Given the description of an element on the screen output the (x, y) to click on. 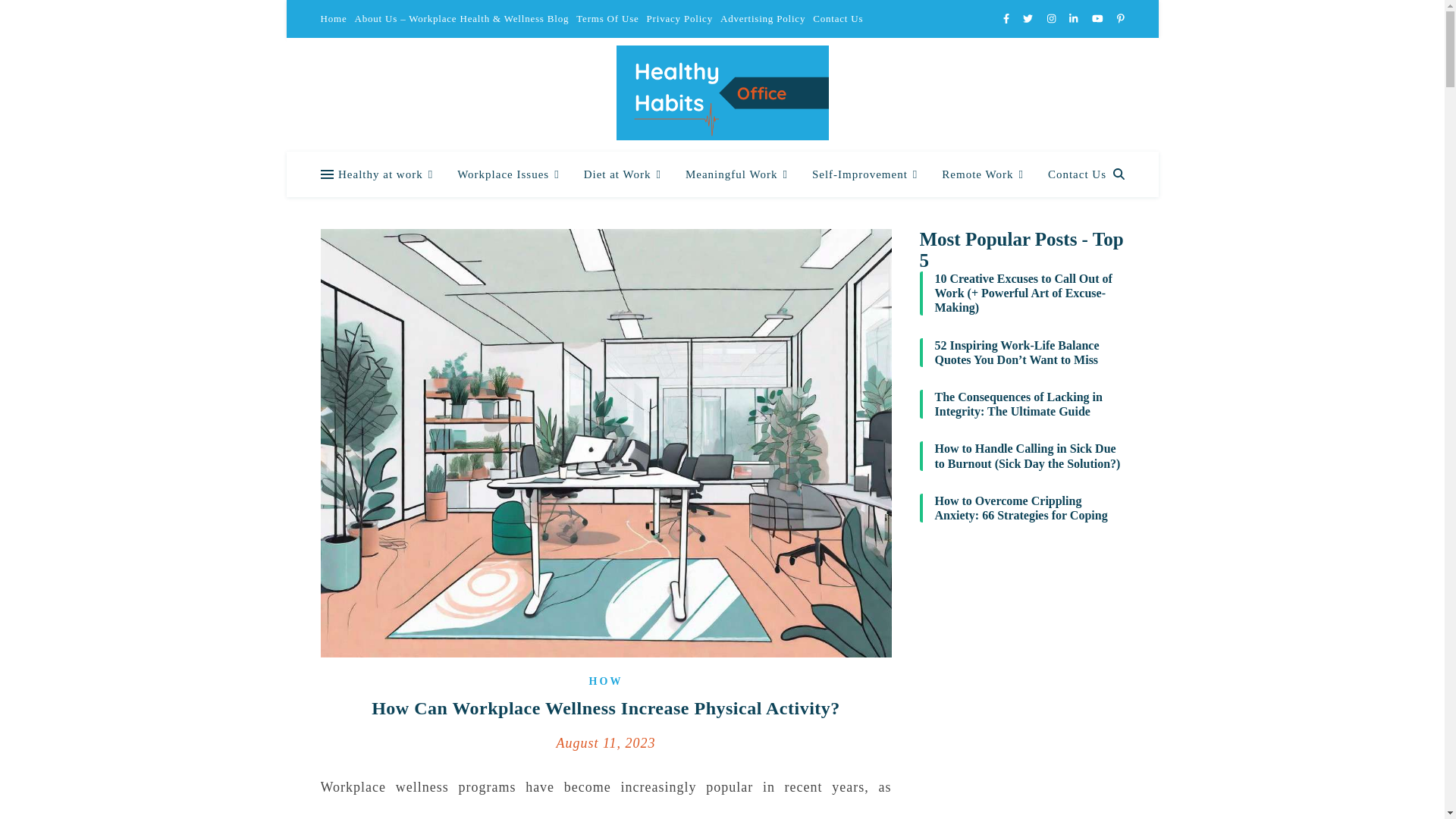
Workplace Issues (508, 174)
Privacy Policy (679, 18)
Terms Of Use (607, 18)
Healthy Office Habits (721, 92)
Healthy at work (391, 174)
Contact Us (836, 18)
Advertising Policy (762, 18)
